Given the description of an element on the screen output the (x, y) to click on. 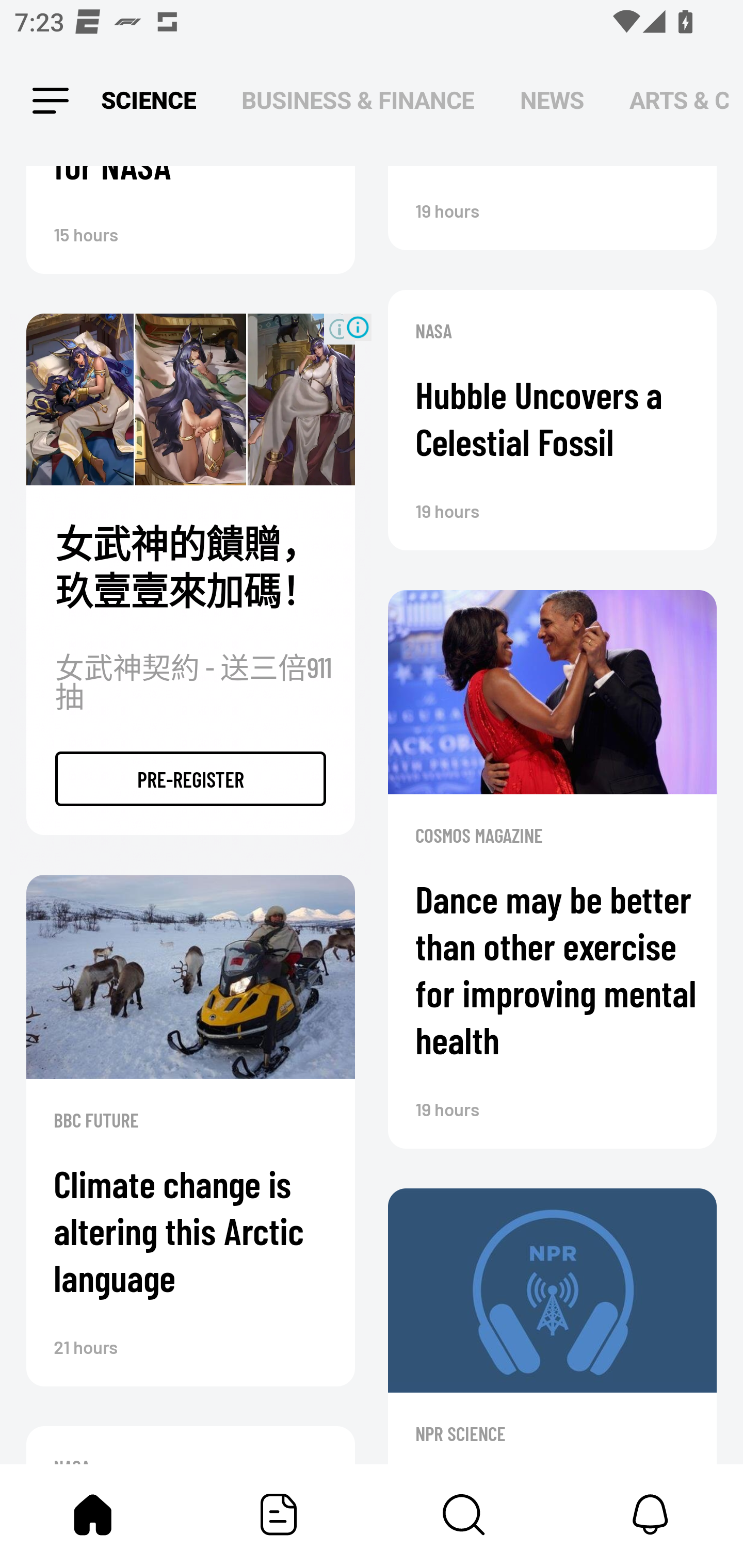
Leading Icon (50, 101)
BUSINESS & FINANCE (357, 100)
NEWS (551, 100)
ARTS & CULTURE (678, 100)
Ad Choices Icon (357, 326)
Featured (278, 1514)
Content Store (464, 1514)
Notifications (650, 1514)
